Given the description of an element on the screen output the (x, y) to click on. 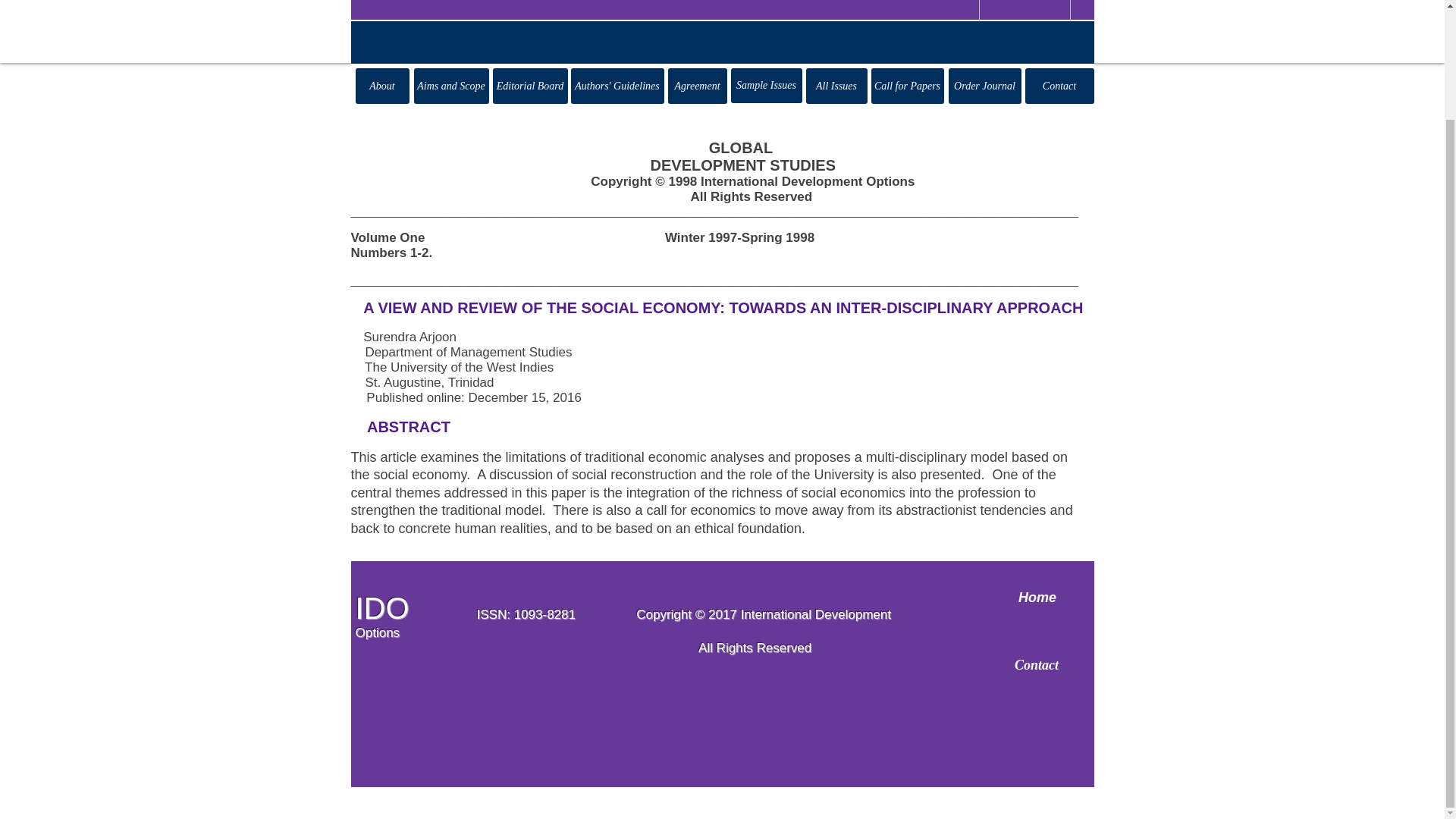
Editorial Board (530, 85)
Call for Papers (906, 85)
About (382, 85)
Home (1037, 596)
All Issues (835, 85)
Aims and Scope (451, 85)
Contact (1059, 85)
Sample Issues (766, 85)
Order Journal (983, 85)
Authors' Guidelines (616, 85)
